Given the description of an element on the screen output the (x, y) to click on. 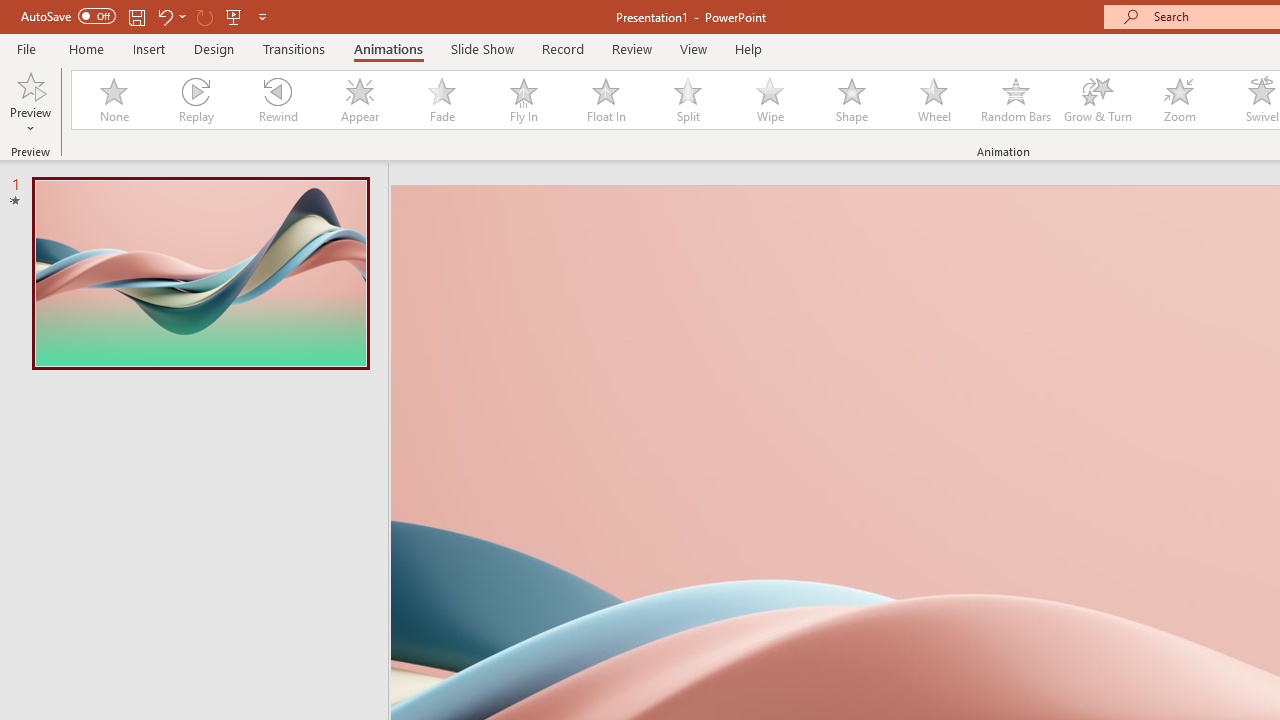
Replay (195, 100)
None (113, 100)
Shape (852, 100)
Rewind (277, 100)
